Given the description of an element on the screen output the (x, y) to click on. 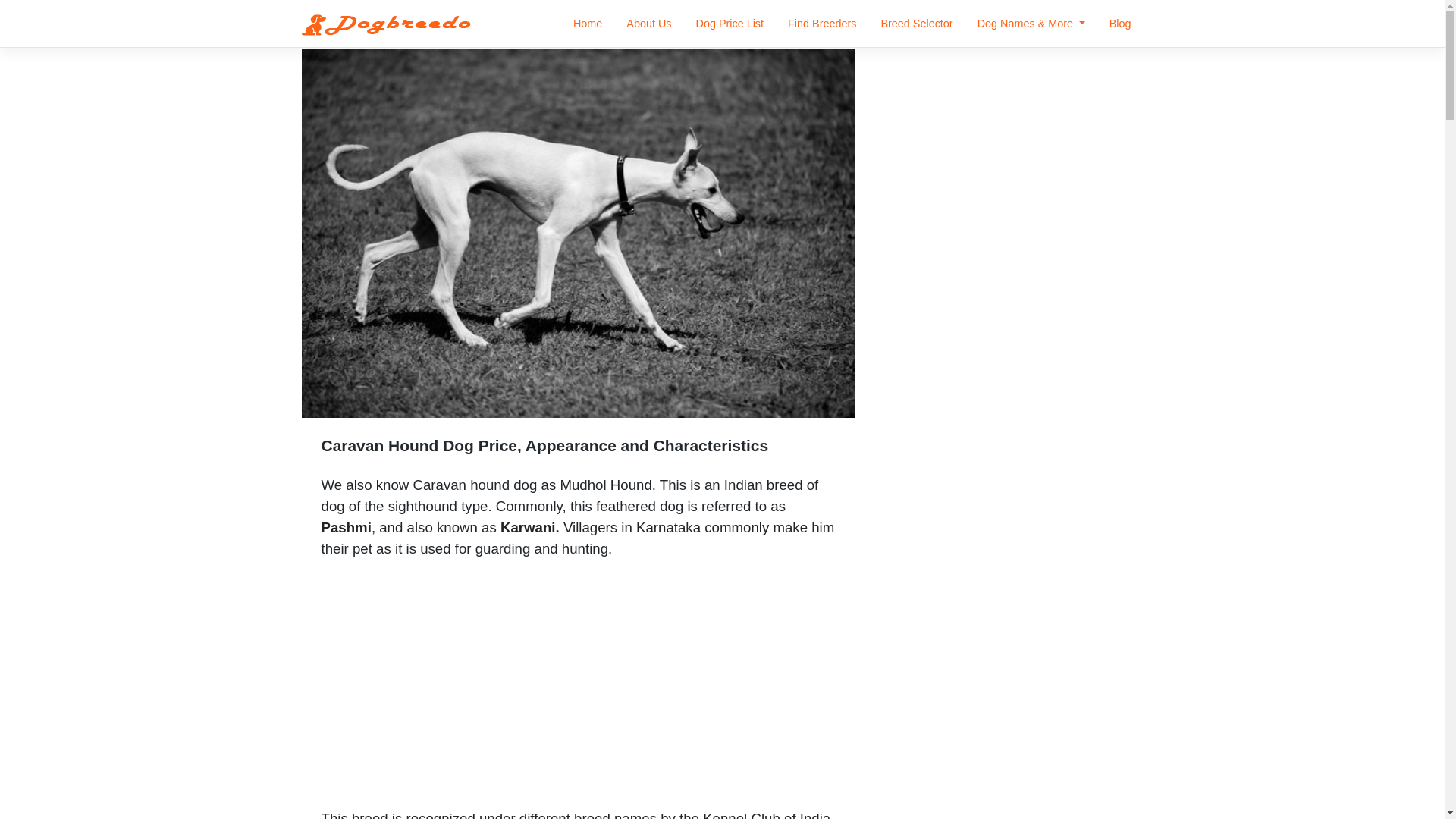
Dog Price List (729, 23)
Find Breeders (821, 23)
Breed Selector (915, 23)
Find Breeders (821, 23)
Home (587, 23)
Home (587, 23)
Dog Price List (729, 23)
Blog (1119, 23)
Breed Selector (915, 23)
About Us (648, 23)
About Us (648, 23)
